Given the description of an element on the screen output the (x, y) to click on. 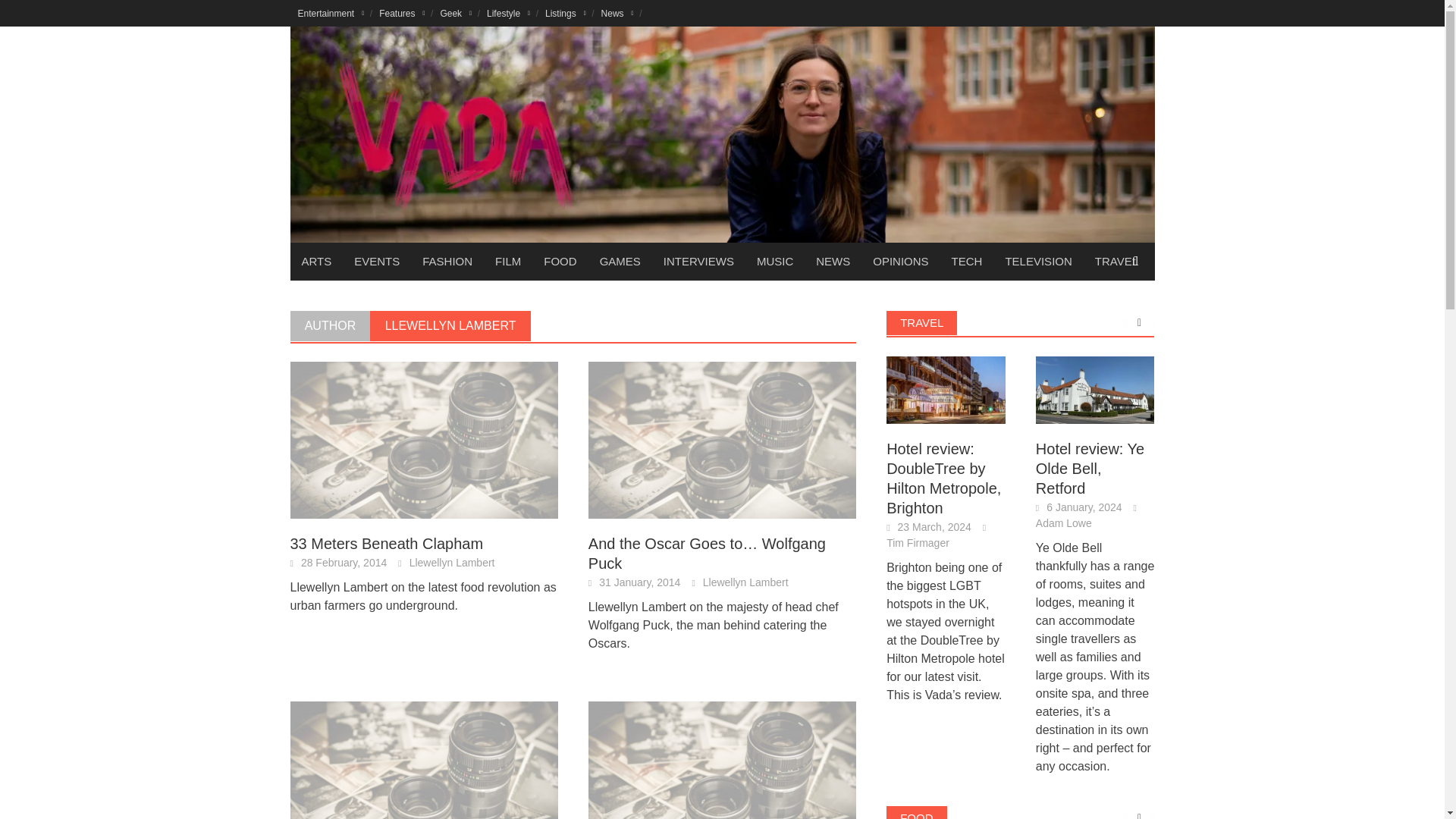
33 Meters Beneath Clapham (423, 439)
Listings (565, 13)
Geek (455, 13)
News (618, 13)
Hotel review: DoubleTree by Hilton Metropole, Brighton (946, 389)
Hotel review: DoubleTree by Hilton Metropole, Brighton (946, 390)
Divine Dining Design (423, 778)
Features (401, 13)
Hotel review: Ye Olde Bell, Retford (1094, 390)
High Fashion Foodies: 2014 Trend Alert (722, 778)
